Given the description of an element on the screen output the (x, y) to click on. 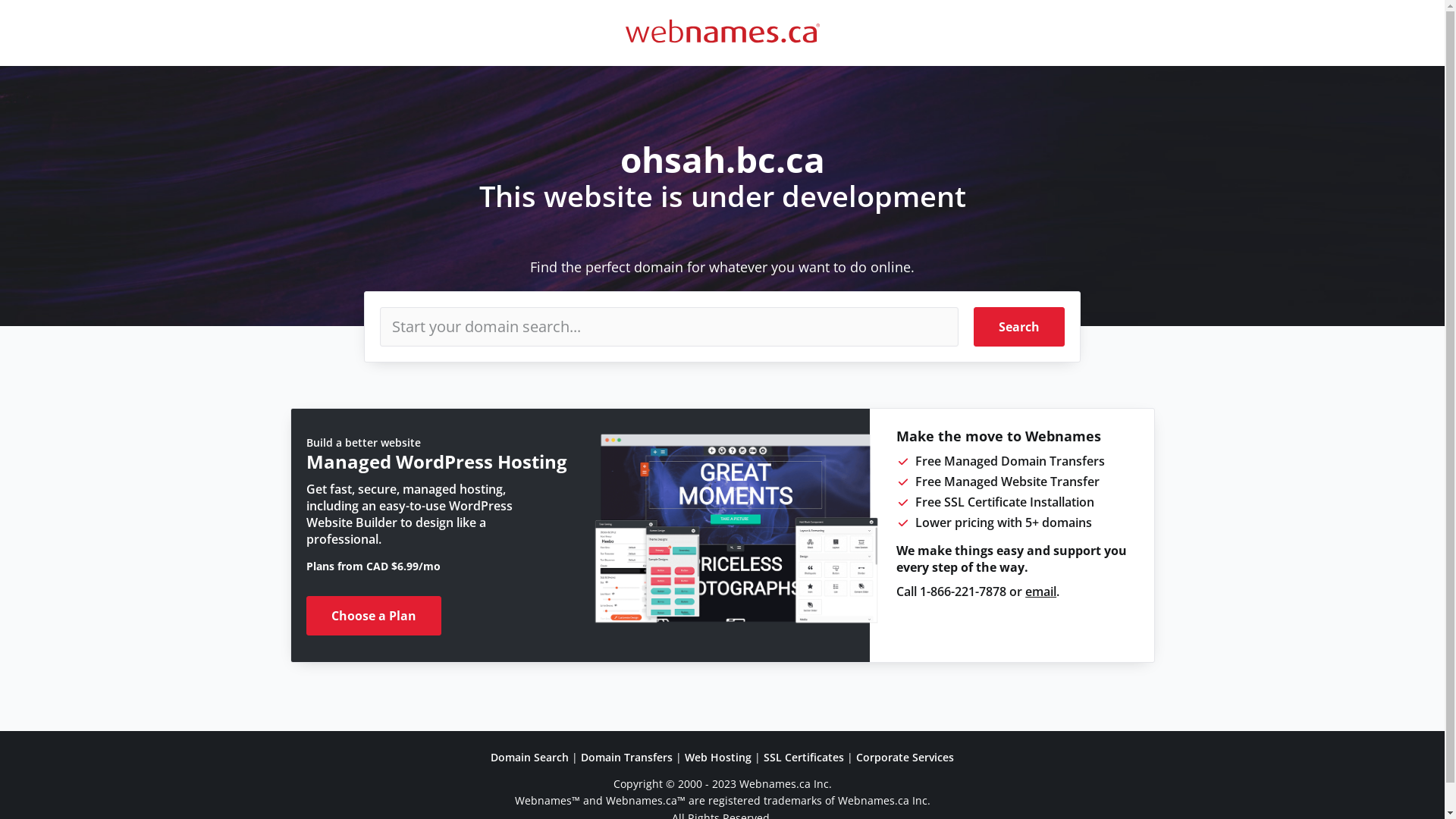
Web Hosting Element type: text (717, 756)
SSL Certificates Element type: text (803, 756)
email Element type: text (1040, 591)
Search Element type: text (1018, 326)
1-866-221-7878 Element type: text (962, 591)
Choose a Plan Element type: text (373, 615)
Domain Search Element type: text (529, 756)
Corporate Services Element type: text (904, 756)
Domain Transfers Element type: text (626, 756)
